Given the description of an element on the screen output the (x, y) to click on. 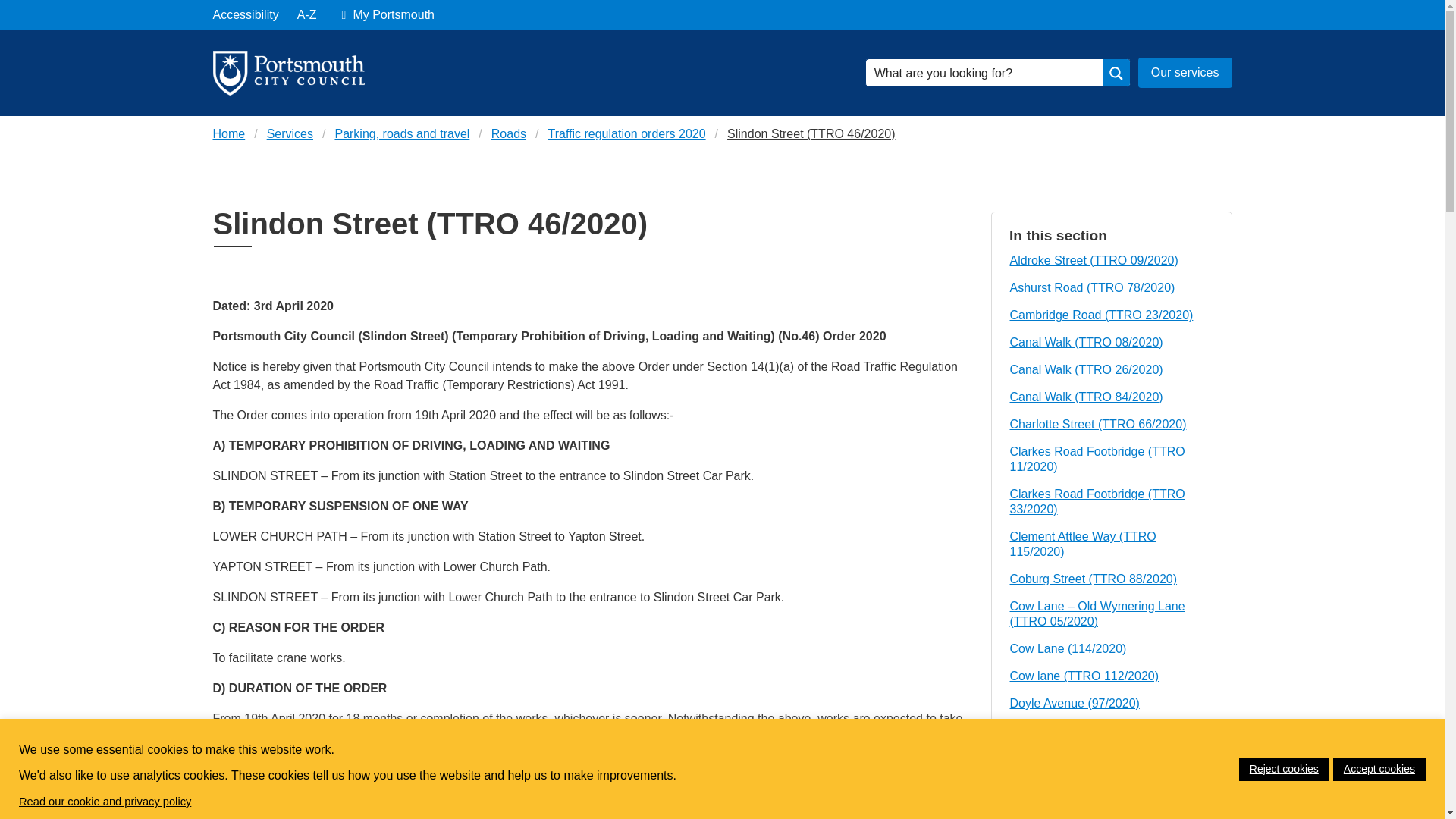
A-Z (307, 15)
My Portsmouth (384, 15)
Our services (1184, 72)
A-Z (307, 15)
Accessibility (244, 15)
Services (289, 134)
Parking, roads and travel (401, 134)
My Portsmouth (384, 15)
Home (228, 134)
Traffic regulation orders 2020 (626, 134)
Accessibility (244, 15)
Roads (508, 134)
